Given the description of an element on the screen output the (x, y) to click on. 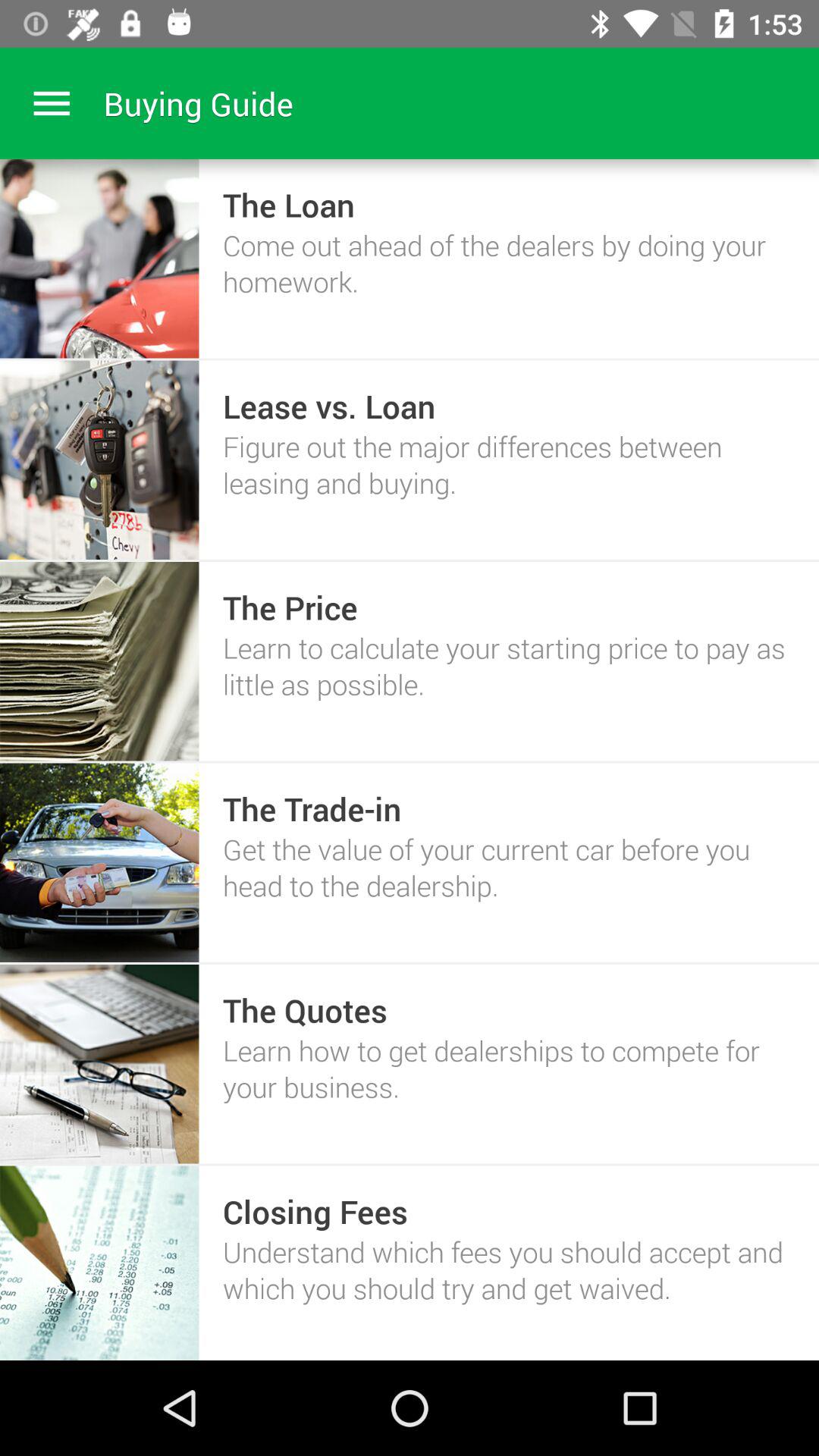
select menu (51, 103)
